Given the description of an element on the screen output the (x, y) to click on. 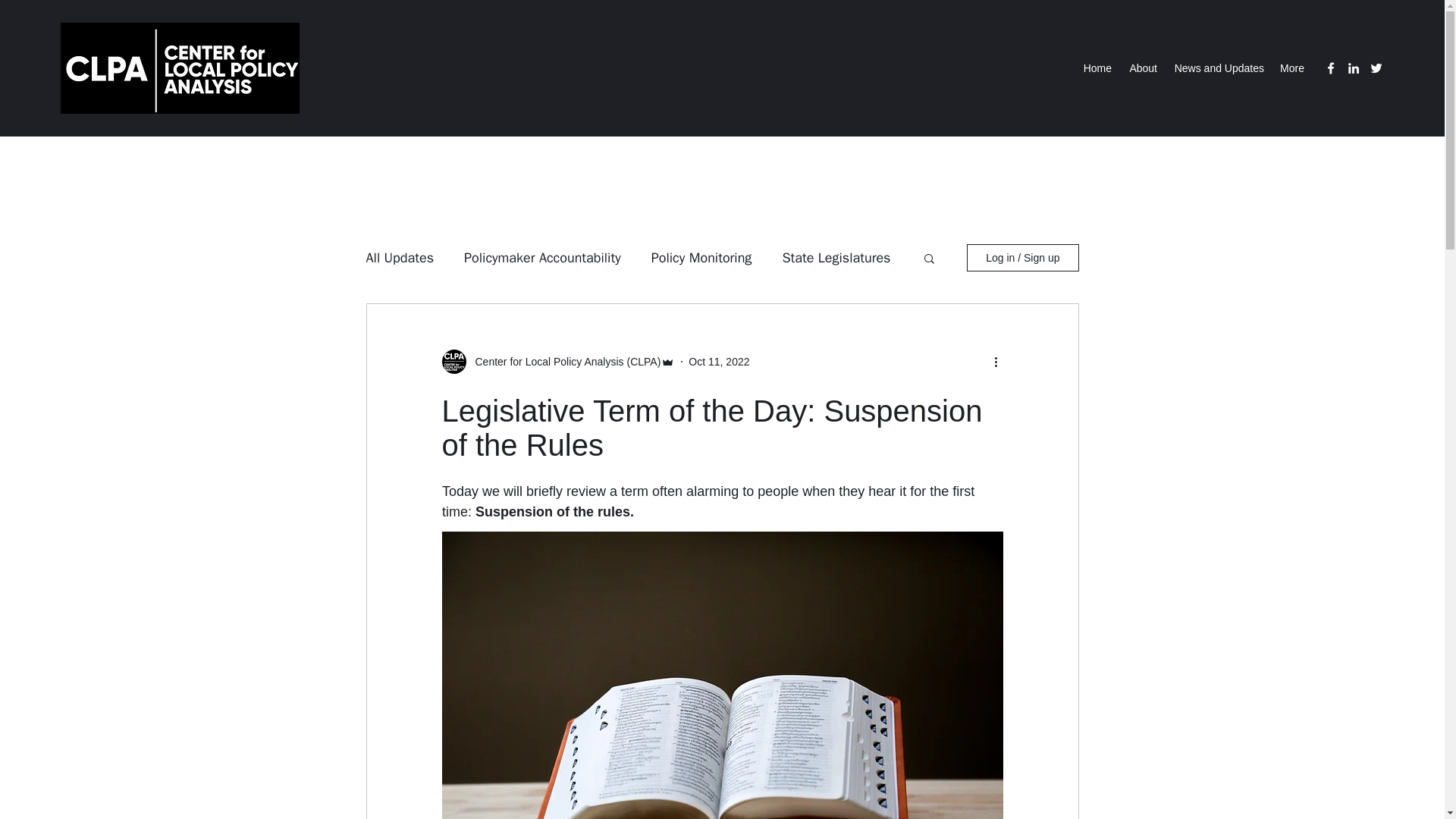
Home (1097, 67)
State Legislatures (835, 257)
Policy Monitoring (701, 257)
Policymaker Accountability (542, 257)
About (1141, 67)
Oct 11, 2022 (718, 360)
All Updates (399, 257)
News and Updates (1217, 67)
